Given the description of an element on the screen output the (x, y) to click on. 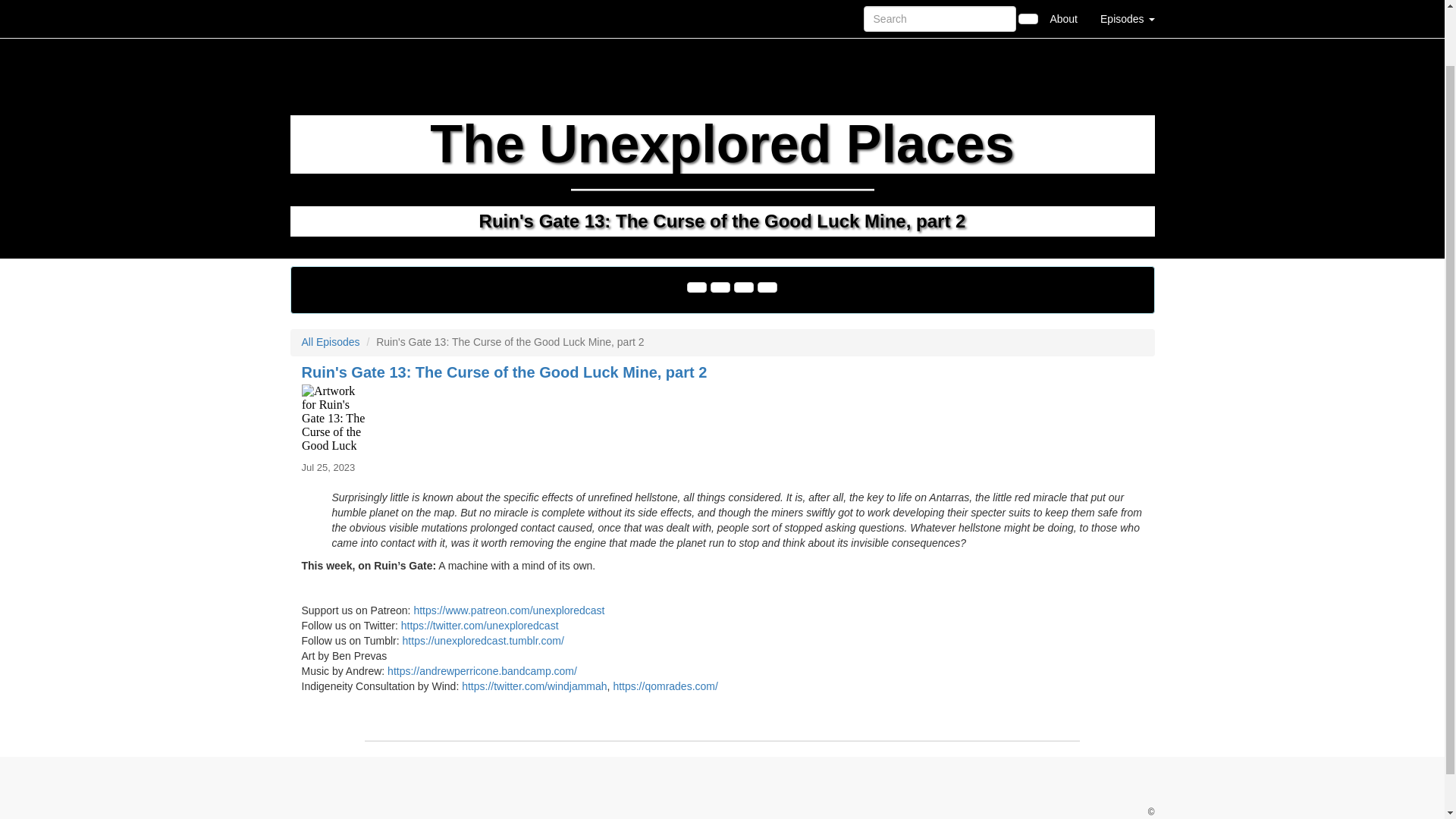
Ruin's Gate 13: The Curse of the Good Luck Mine, part 2 (721, 418)
